Given the description of an element on the screen output the (x, y) to click on. 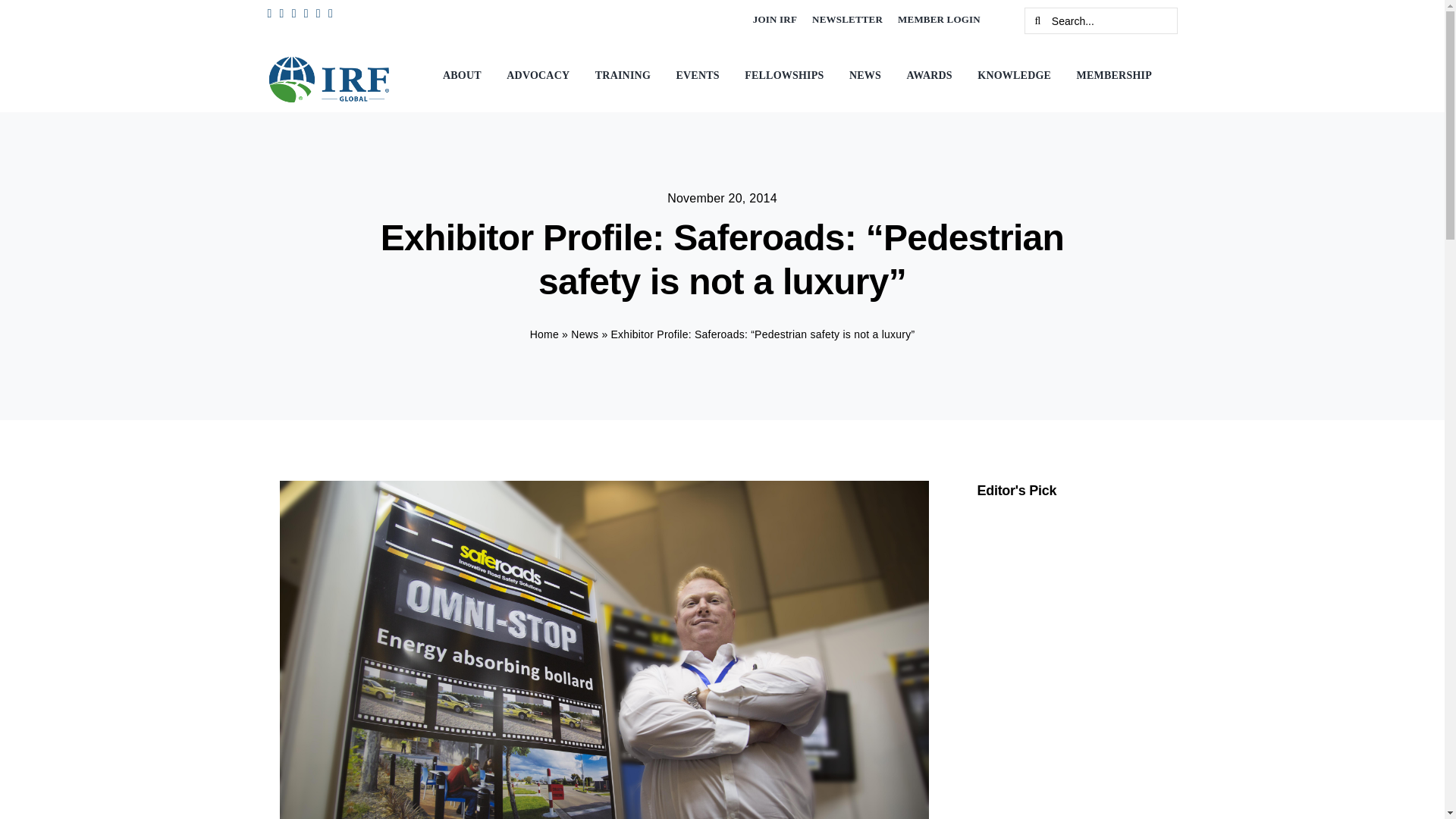
JOIN IRF (775, 19)
TRAINING (626, 75)
ABOUT (465, 75)
NEWSLETTER (847, 19)
ADVOCACY (541, 75)
MEMBER LOGIN (938, 19)
